Given the description of an element on the screen output the (x, y) to click on. 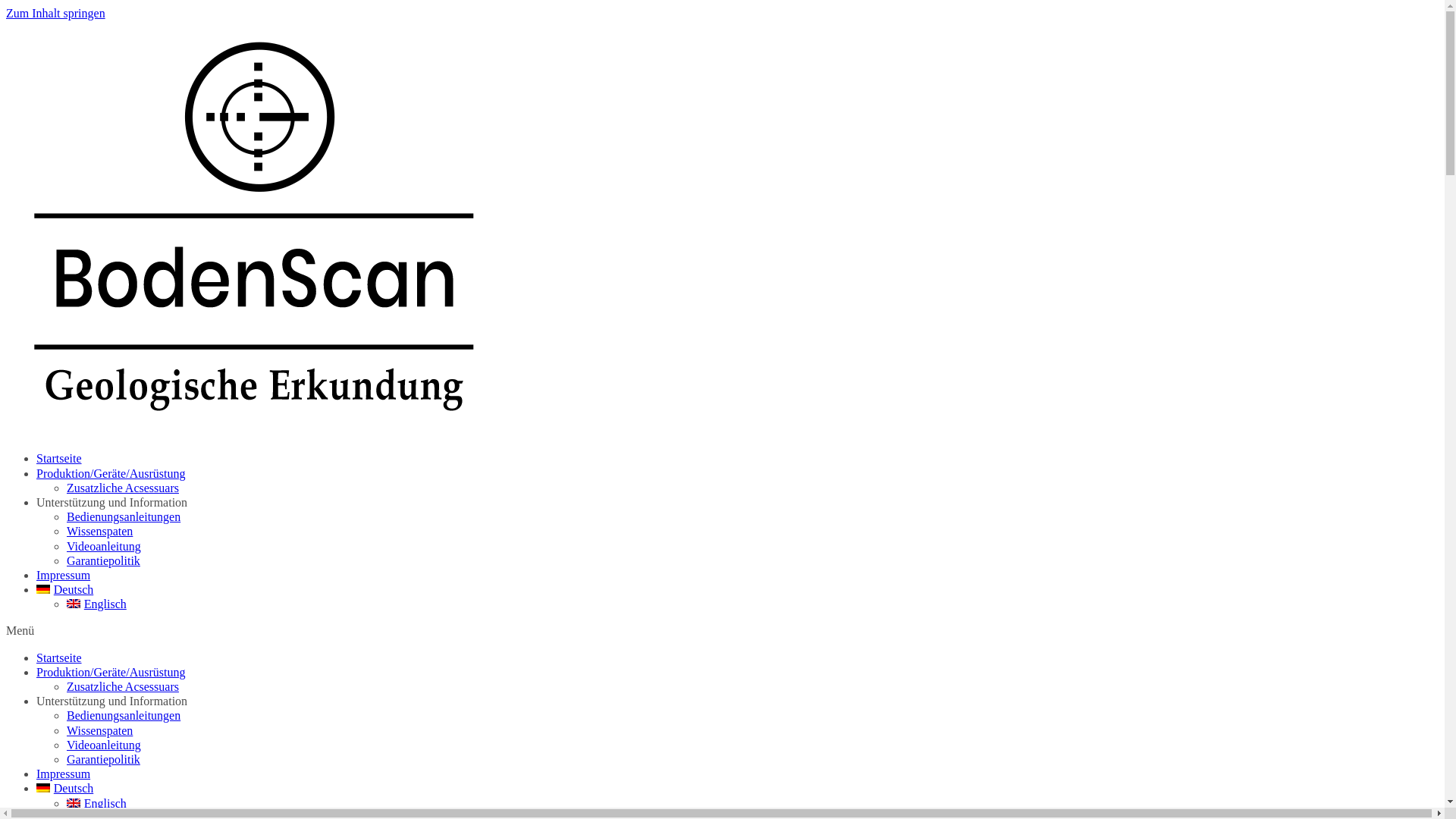
Garantiepolitik Element type: text (103, 560)
Garantiepolitik Element type: text (103, 759)
Wissenspaten Element type: text (99, 730)
Videoanleitung Element type: text (103, 744)
Bedienungsanleitungen Element type: text (123, 516)
Zum Inhalt springen Element type: text (55, 12)
Startseite Element type: text (58, 657)
Videoanleitung Element type: text (103, 545)
Impressum Element type: text (63, 773)
Englisch Element type: text (96, 603)
Wissenspaten Element type: text (99, 530)
Impressum Element type: text (63, 574)
Bedienungsanleitungen Element type: text (123, 715)
Zusatzliche Acsessuars Element type: text (122, 487)
Zusatzliche Acsessuars Element type: text (122, 686)
Startseite Element type: text (58, 457)
Deutsch Element type: text (64, 589)
Deutsch Element type: text (64, 787)
Englisch Element type: text (96, 802)
